Given the description of an element on the screen output the (x, y) to click on. 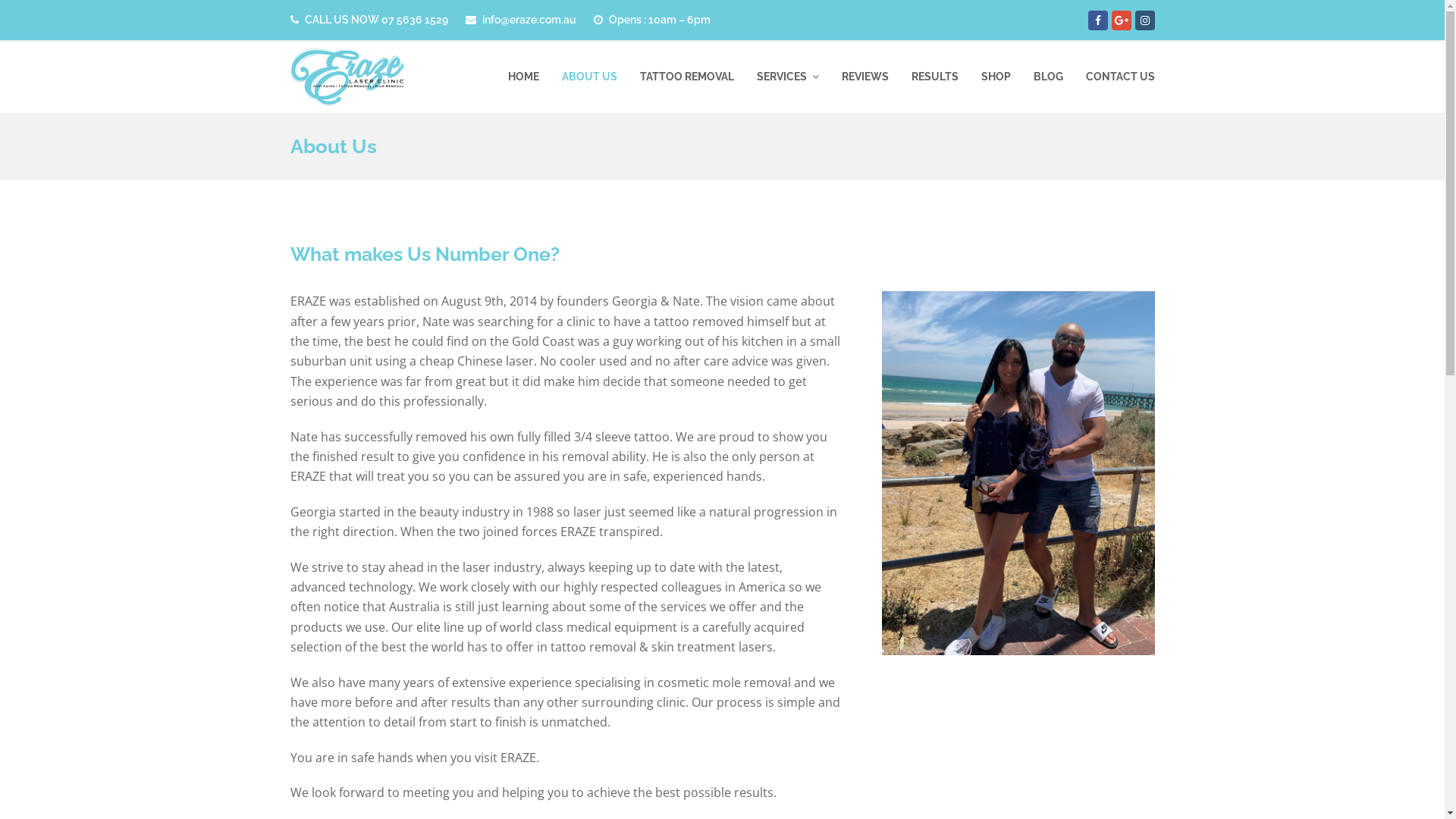
TATTOO REMOVAL Element type: text (685, 76)
Facebook Element type: text (1097, 20)
RESULTS Element type: text (934, 76)
REVIEWS Element type: text (864, 76)
Google Plus Element type: text (1121, 20)
ABOUT US Element type: text (589, 76)
SERVICES Element type: text (786, 76)
CONTACT US Element type: text (1119, 76)
SHOP Element type: text (995, 76)
BLOG Element type: text (1048, 76)
HOME Element type: text (522, 76)
Instagram Element type: text (1144, 20)
